Given the description of an element on the screen output the (x, y) to click on. 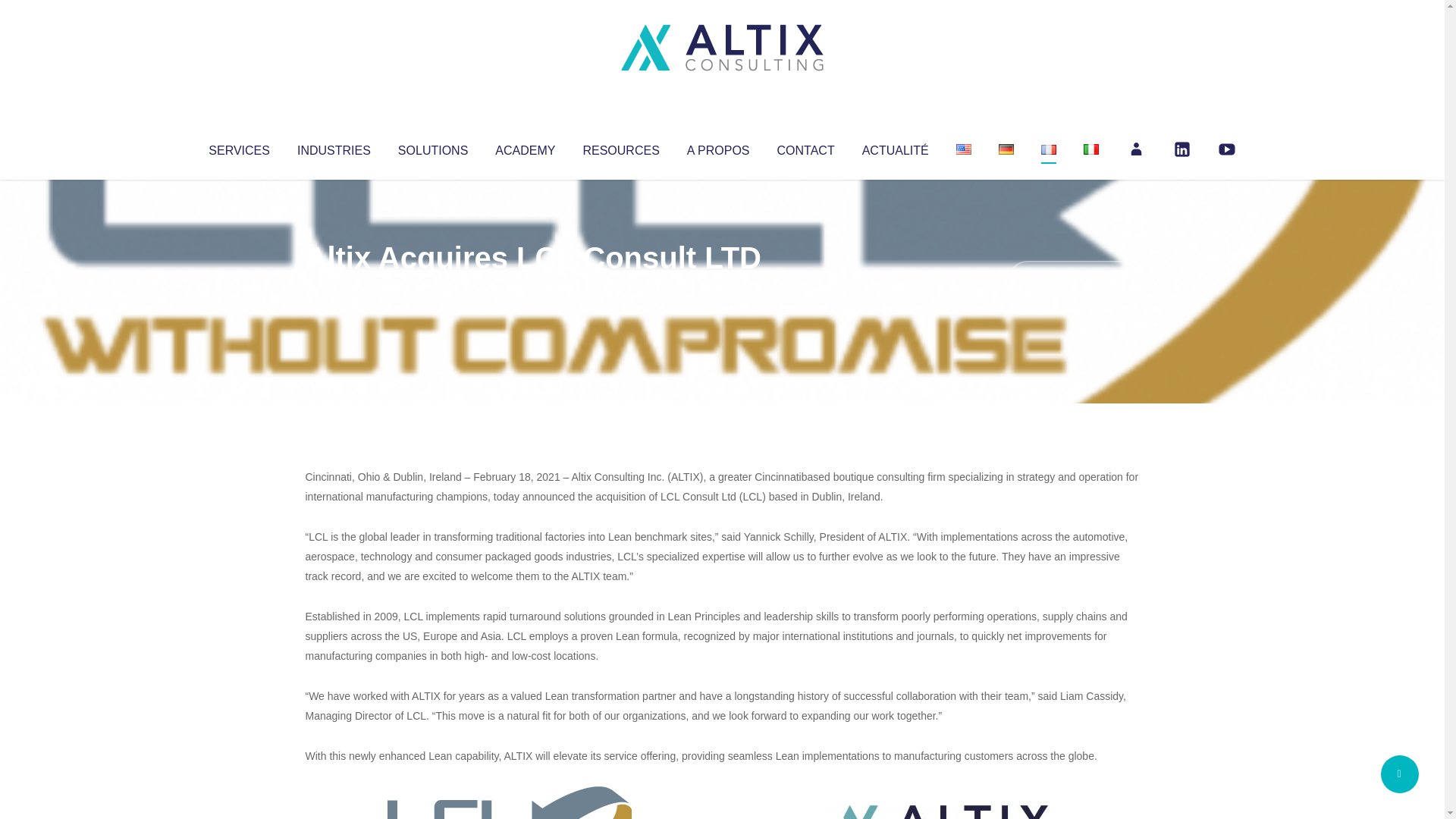
No Comments (1073, 278)
Uncategorized (530, 287)
A PROPOS (718, 146)
INDUSTRIES (334, 146)
RESOURCES (620, 146)
ACADEMY (524, 146)
SERVICES (238, 146)
SOLUTIONS (432, 146)
Articles par Altix (333, 287)
Altix (333, 287)
